Given the description of an element on the screen output the (x, y) to click on. 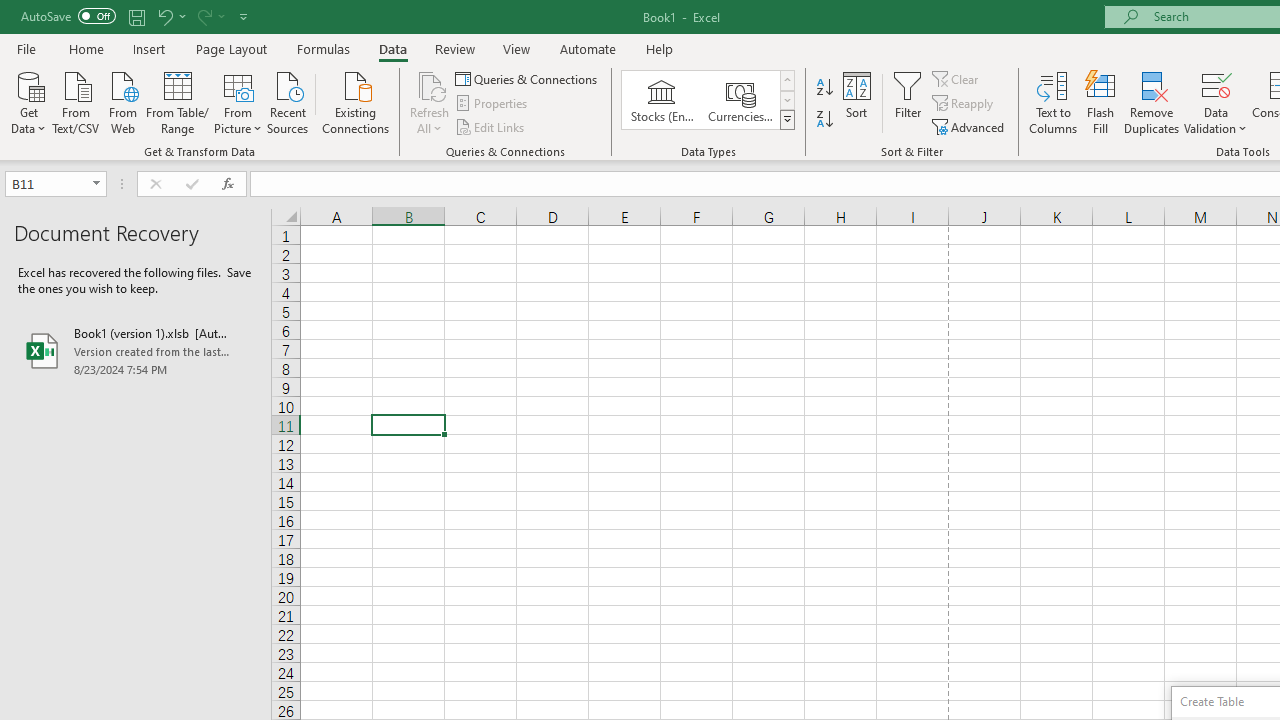
From Picture (238, 101)
